Given the description of an element on the screen output the (x, y) to click on. 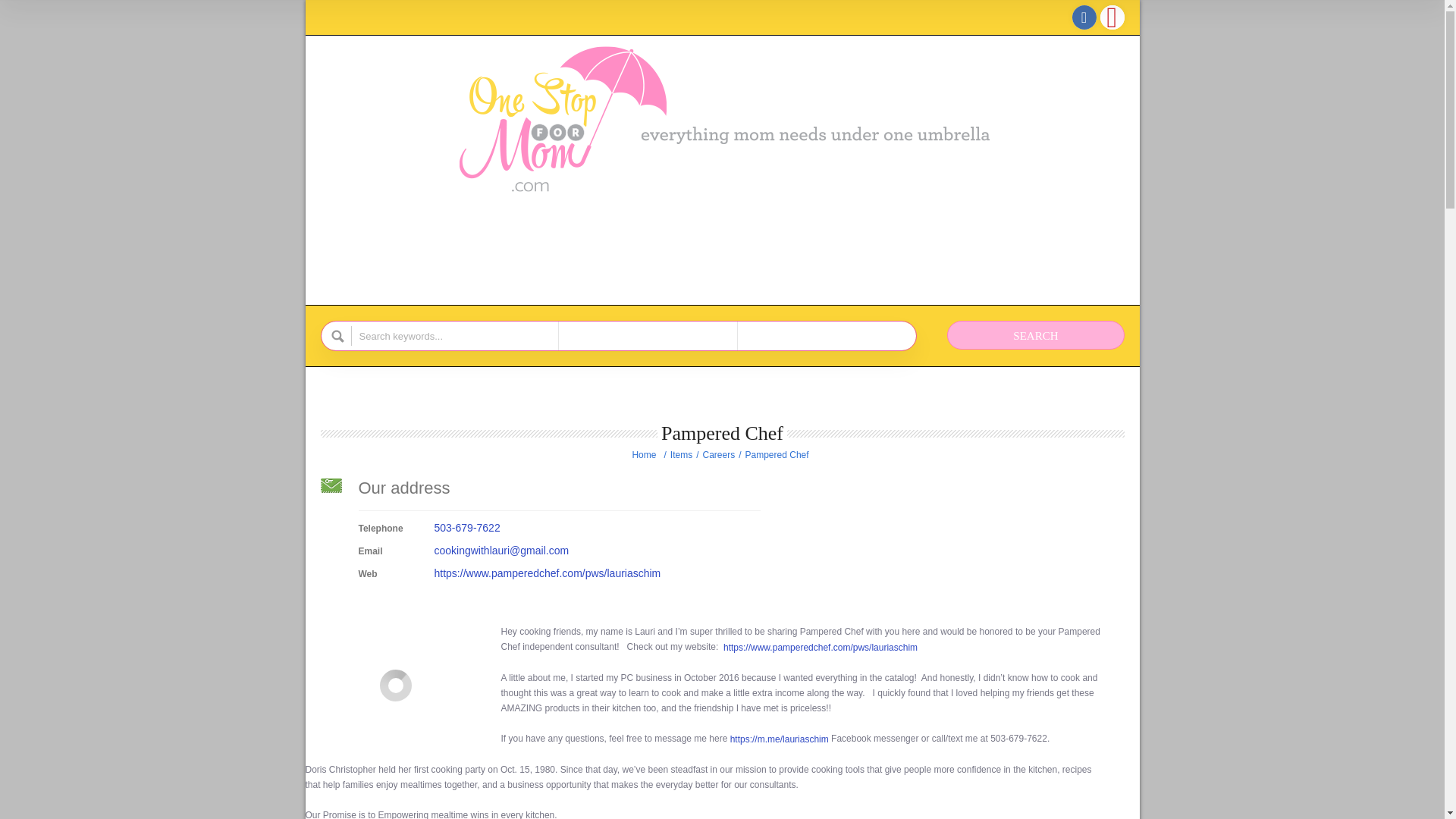
OneStopforMom (645, 454)
Search (1035, 335)
Search (1035, 335)
OneStopforMom (721, 118)
Items (682, 454)
